Given the description of an element on the screen output the (x, y) to click on. 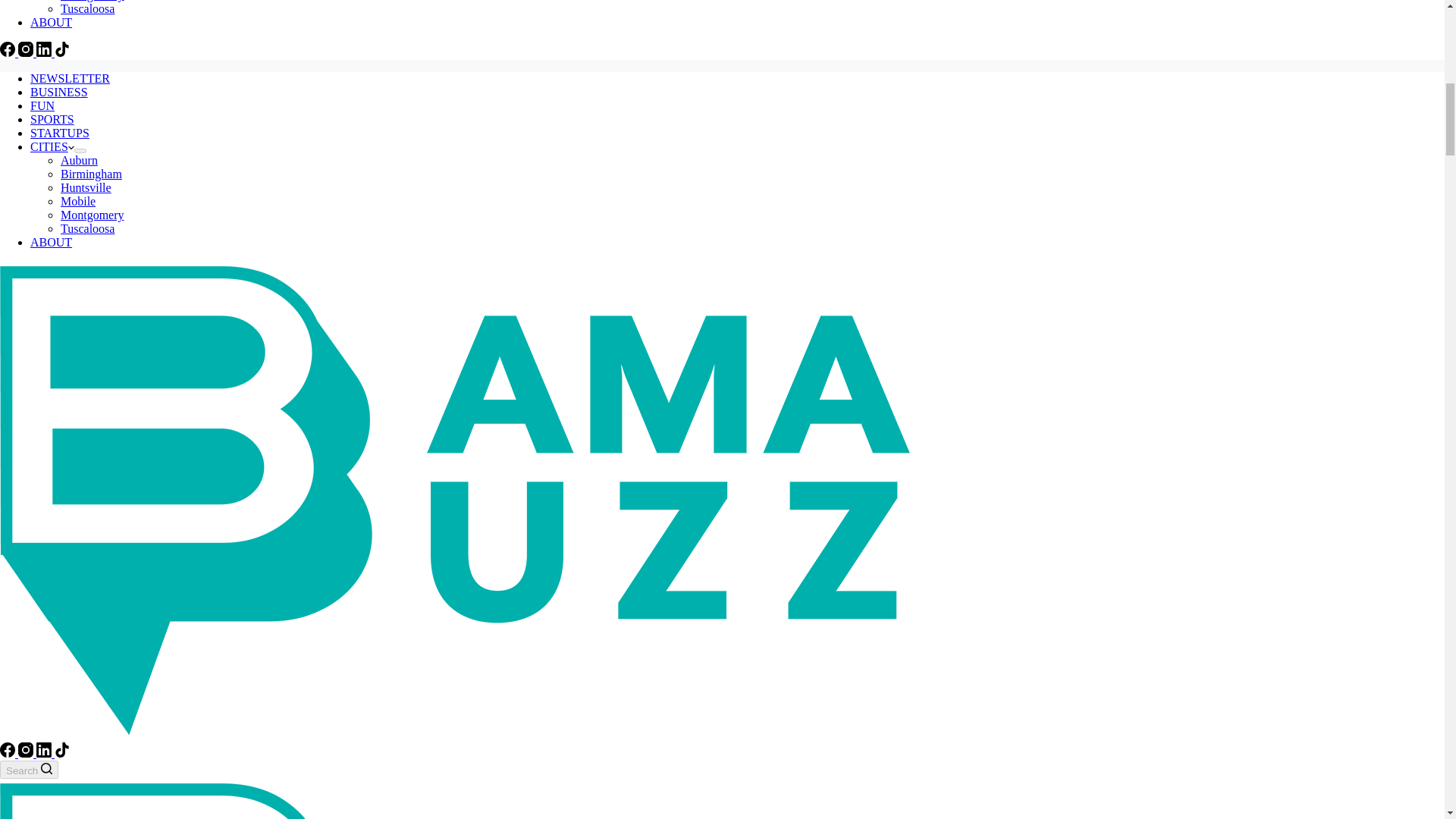
STARTUPS (59, 132)
Auburn (79, 160)
ABOUT (50, 241)
BUSINESS (58, 91)
Mobile (78, 201)
Montgomery (92, 0)
ABOUT (50, 21)
CITIES (52, 146)
Tuscaloosa (88, 8)
FUN (42, 105)
